Given the description of an element on the screen output the (x, y) to click on. 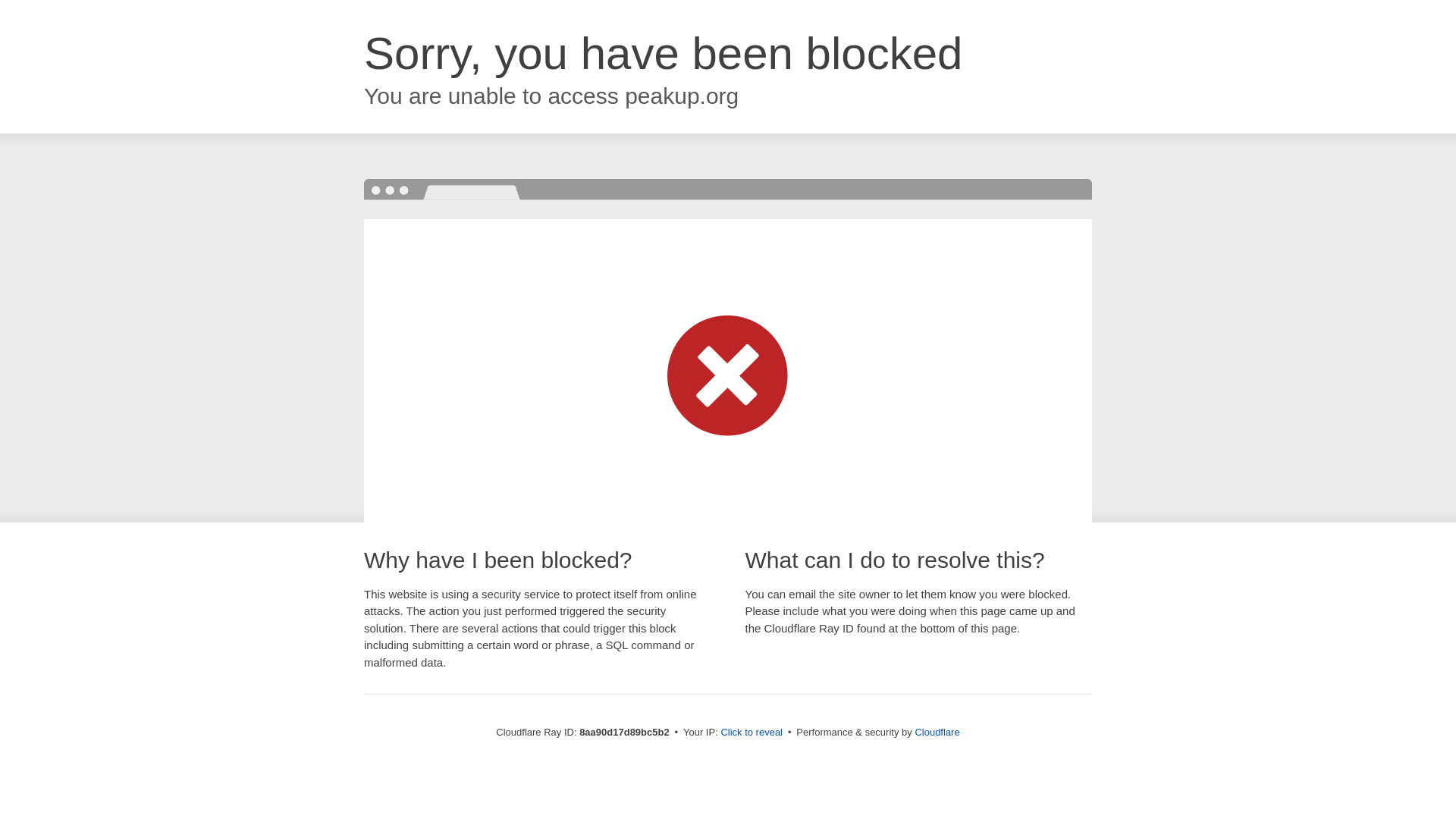
Cloudflare (936, 731)
Click to reveal (751, 732)
